Given the description of an element on the screen output the (x, y) to click on. 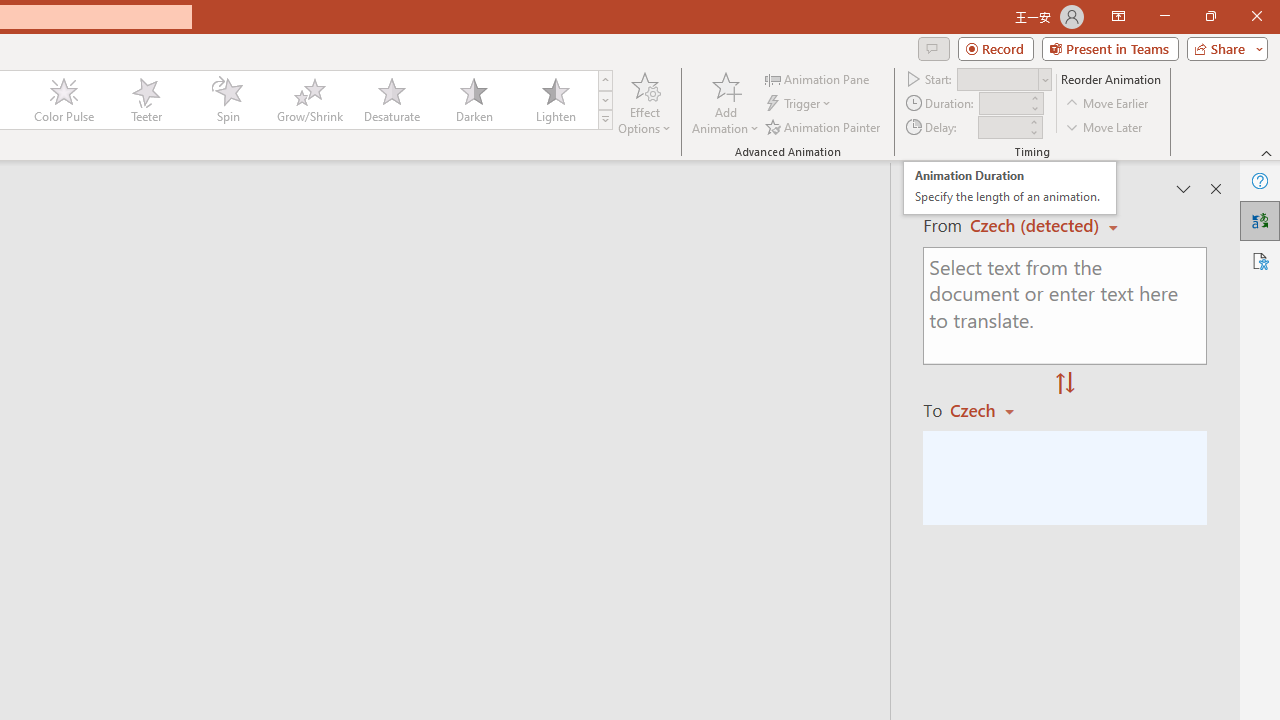
Animation Painter (824, 126)
